Given the description of an element on the screen output the (x, y) to click on. 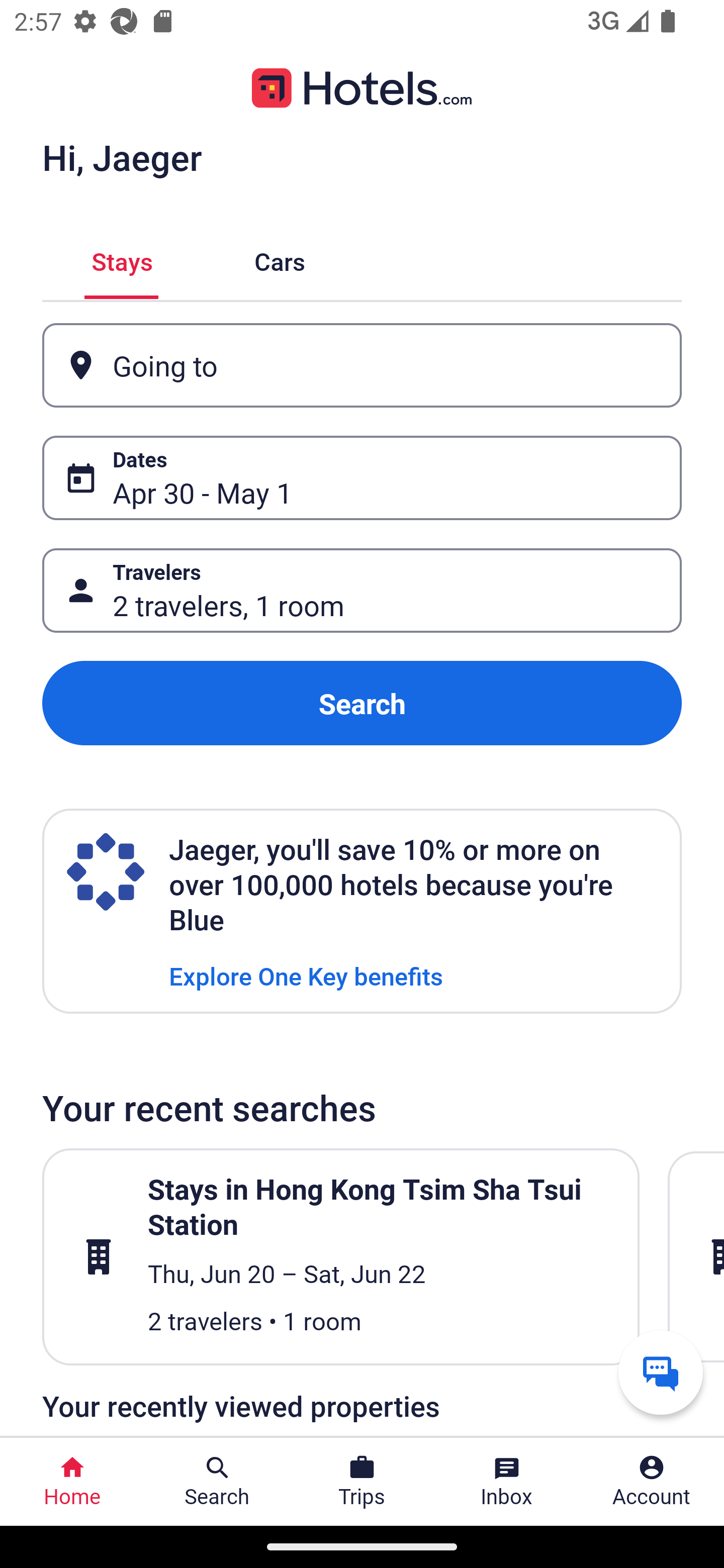
Hi, Jaeger (121, 156)
Cars (279, 259)
Going to Button (361, 365)
Dates Button Apr 30 - May 1 (361, 477)
Travelers Button 2 travelers, 1 room (361, 590)
Search (361, 702)
Get help from a virtual agent (660, 1371)
Search Search Button (216, 1481)
Trips Trips Button (361, 1481)
Inbox Inbox Button (506, 1481)
Account Profile. Button (651, 1481)
